Given the description of an element on the screen output the (x, y) to click on. 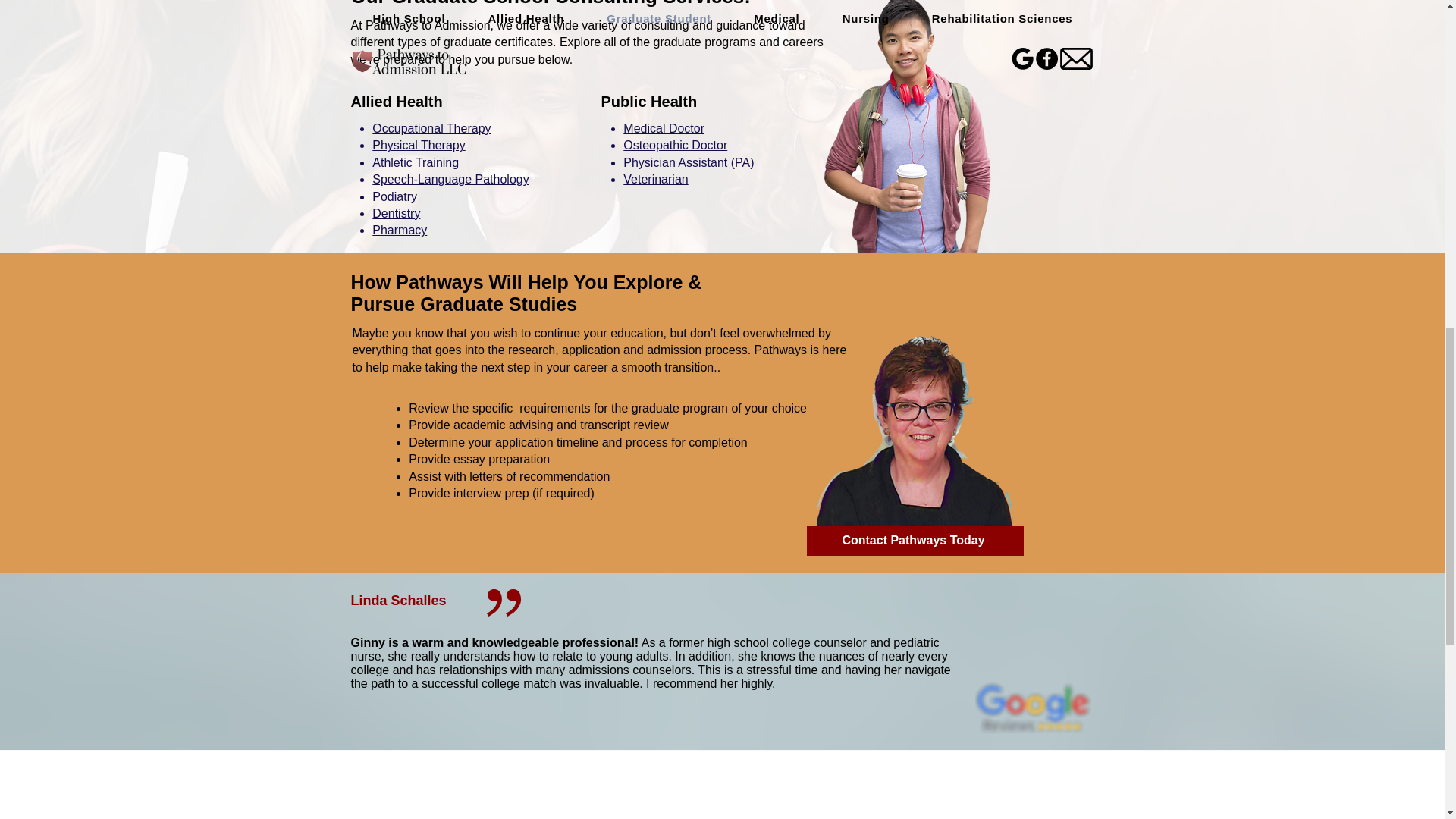
Athletic Training (415, 162)
Medical Doctor (663, 128)
Speech-Language Pathology (450, 178)
Contact Pathways Today (914, 540)
Occupational Therapy (431, 128)
Linda Schalles (397, 600)
Physical Therapy (418, 144)
Online education. Smiling black female s (424, 4)
Veterinarian (655, 178)
Podiatry (394, 196)
Dentistry (396, 213)
Osteopathic Doctor (674, 144)
Pharmacy (399, 229)
